Given the description of an element on the screen output the (x, y) to click on. 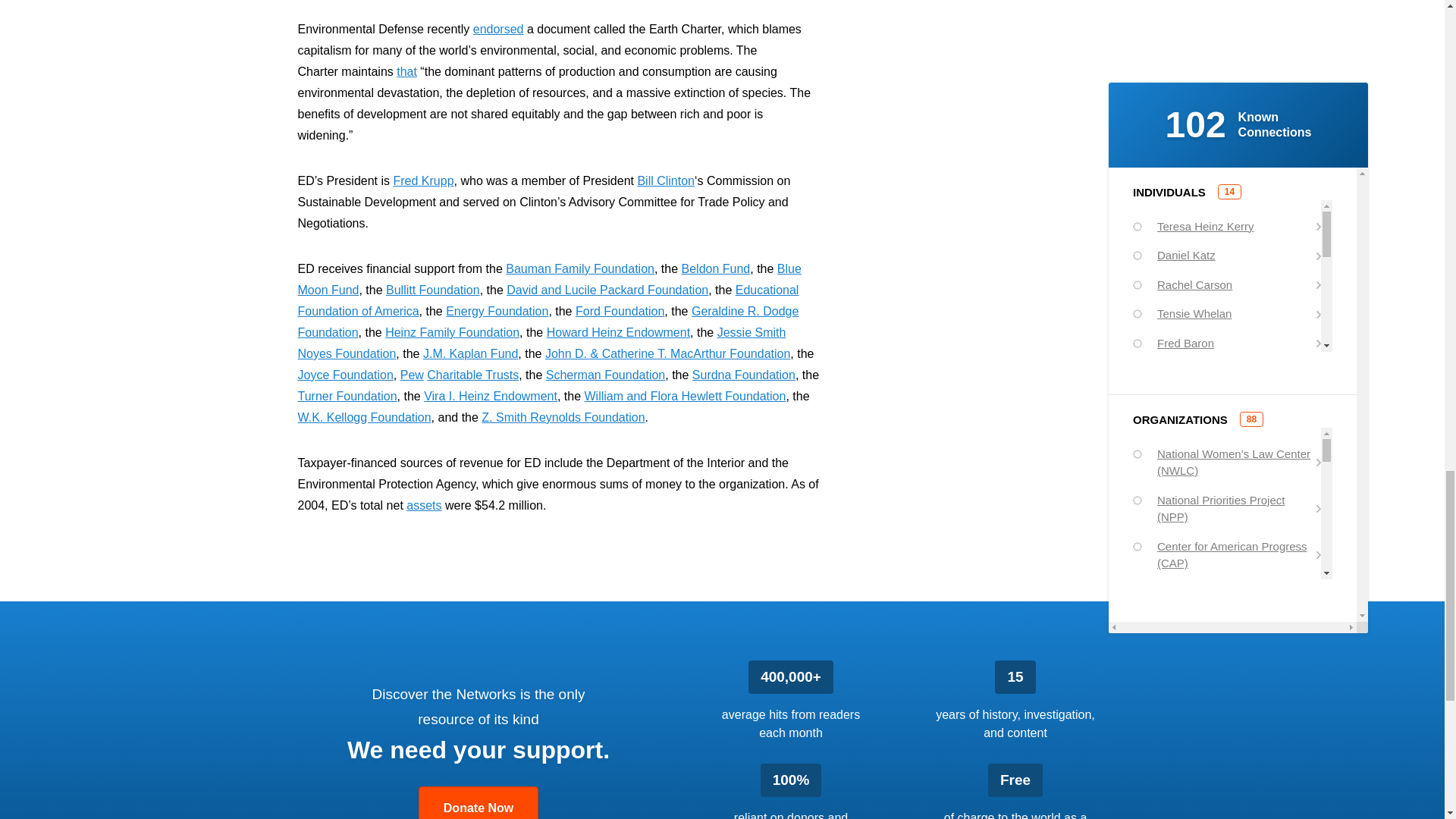
Beldon Fund (716, 268)
Joyce Foundation (345, 374)
David and Lucile Packard Foundation (606, 289)
Heinz Family Foundation (452, 332)
Educational Foundation of America (547, 300)
Bauman Family Foundation (579, 268)
Charitable Trusts (472, 374)
Bullitt Foundation (432, 289)
Jessie Smith Noyes Foundation (541, 342)
that (406, 71)
assets (423, 504)
Scherman Foundation (605, 374)
Surdna Foundation (743, 374)
Howard Heinz Endowment (618, 332)
Energy Foundation (496, 310)
